Given the description of an element on the screen output the (x, y) to click on. 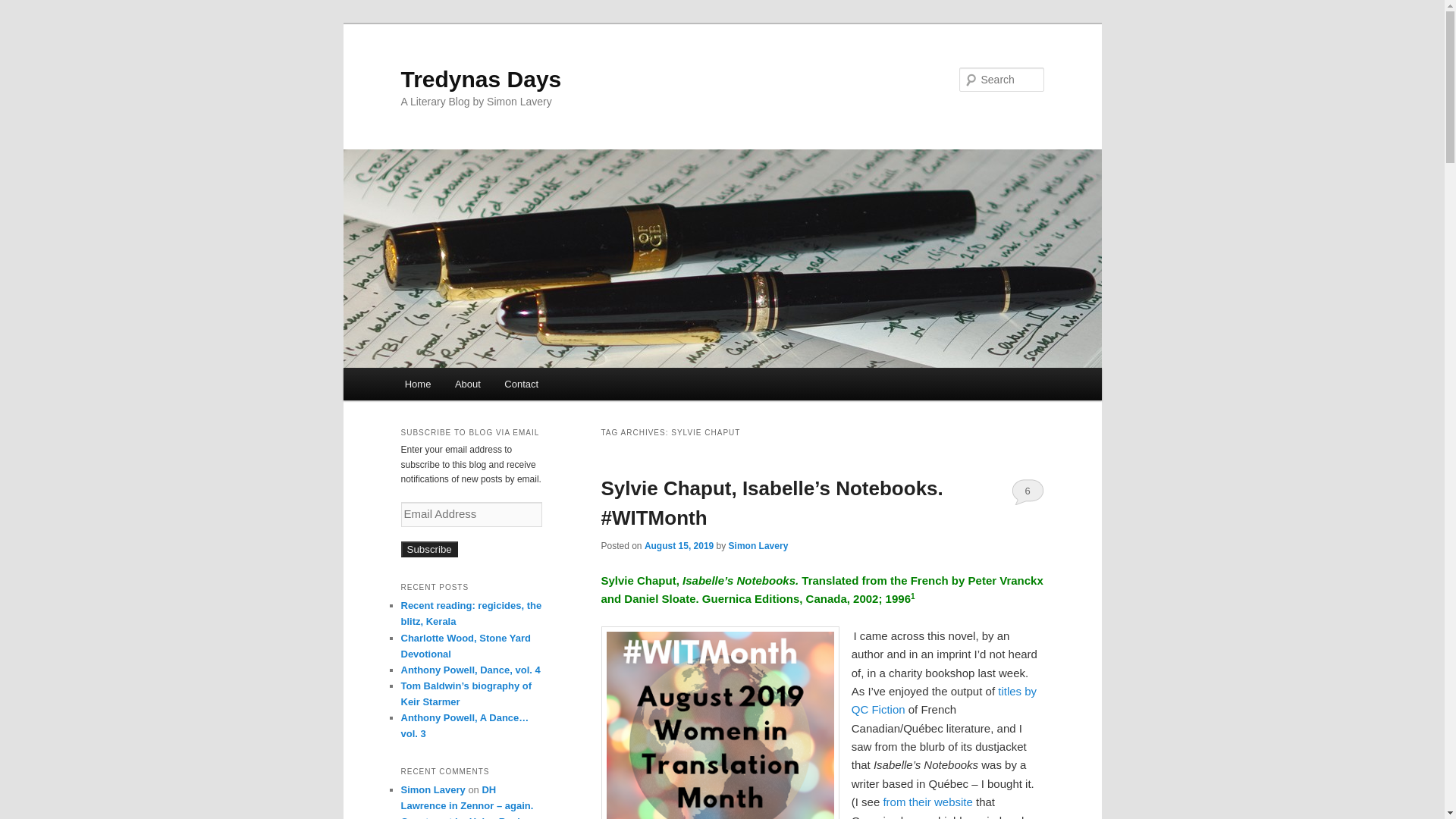
6 (1027, 491)
Charlotte Wood, Stone Yard Devotional (464, 646)
August 15, 2019 (679, 545)
Simon Lavery (759, 545)
Simon Lavery (432, 789)
Anthony Powell, Dance, vol. 4 (470, 669)
Subscribe (428, 549)
titles by QC Fiction (943, 699)
Search (24, 8)
Contact (521, 383)
2:05 pm (679, 545)
View all posts by Simon Lavery (759, 545)
About (467, 383)
Tredynas Days (480, 78)
